Given the description of an element on the screen output the (x, y) to click on. 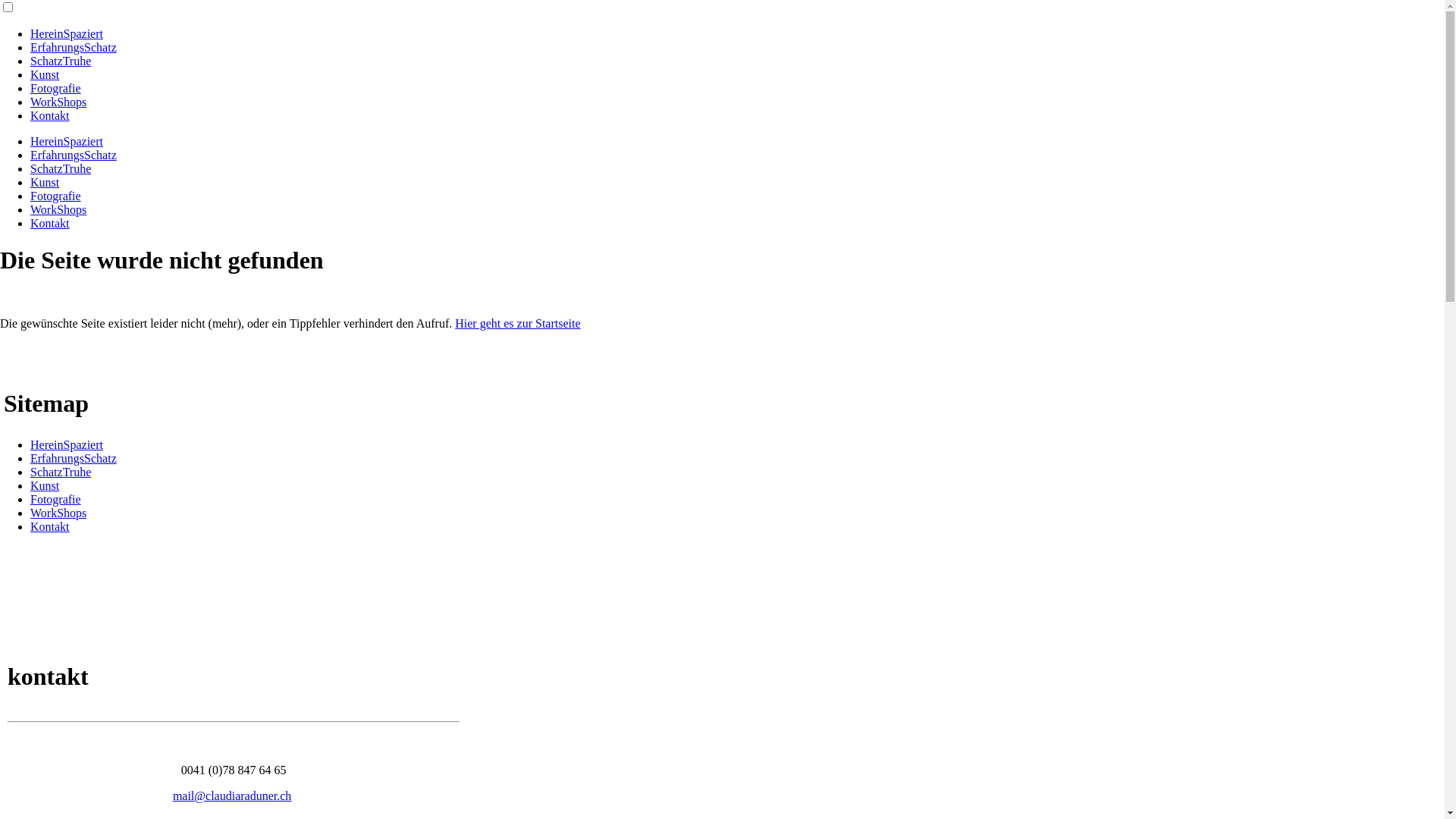
ErfahrungsSchatz Element type: text (73, 46)
Kunst Element type: text (44, 485)
Hier geht es zur Startseite Element type: text (517, 322)
HereinSpaziert Element type: text (66, 33)
SchatzTruhe Element type: text (60, 60)
Fotografie Element type: text (55, 195)
SchatzTruhe Element type: text (60, 168)
WorkShops Element type: text (58, 101)
Fotografie Element type: text (55, 498)
Kontakt Element type: text (49, 526)
ErfahrungsSchatz Element type: text (73, 154)
Fotografie Element type: text (55, 87)
HereinSpaziert Element type: text (66, 140)
WorkShops Element type: text (58, 209)
Kunst Element type: text (44, 181)
WorkShops Element type: text (58, 512)
mail@claudiaraduner.ch Element type: text (231, 795)
Kontakt Element type: text (49, 115)
HereinSpaziert Element type: text (66, 444)
Kontakt Element type: text (49, 222)
ErfahrungsSchatz Element type: text (73, 457)
SchatzTruhe Element type: text (60, 471)
Kunst Element type: text (44, 74)
